Given the description of an element on the screen output the (x, y) to click on. 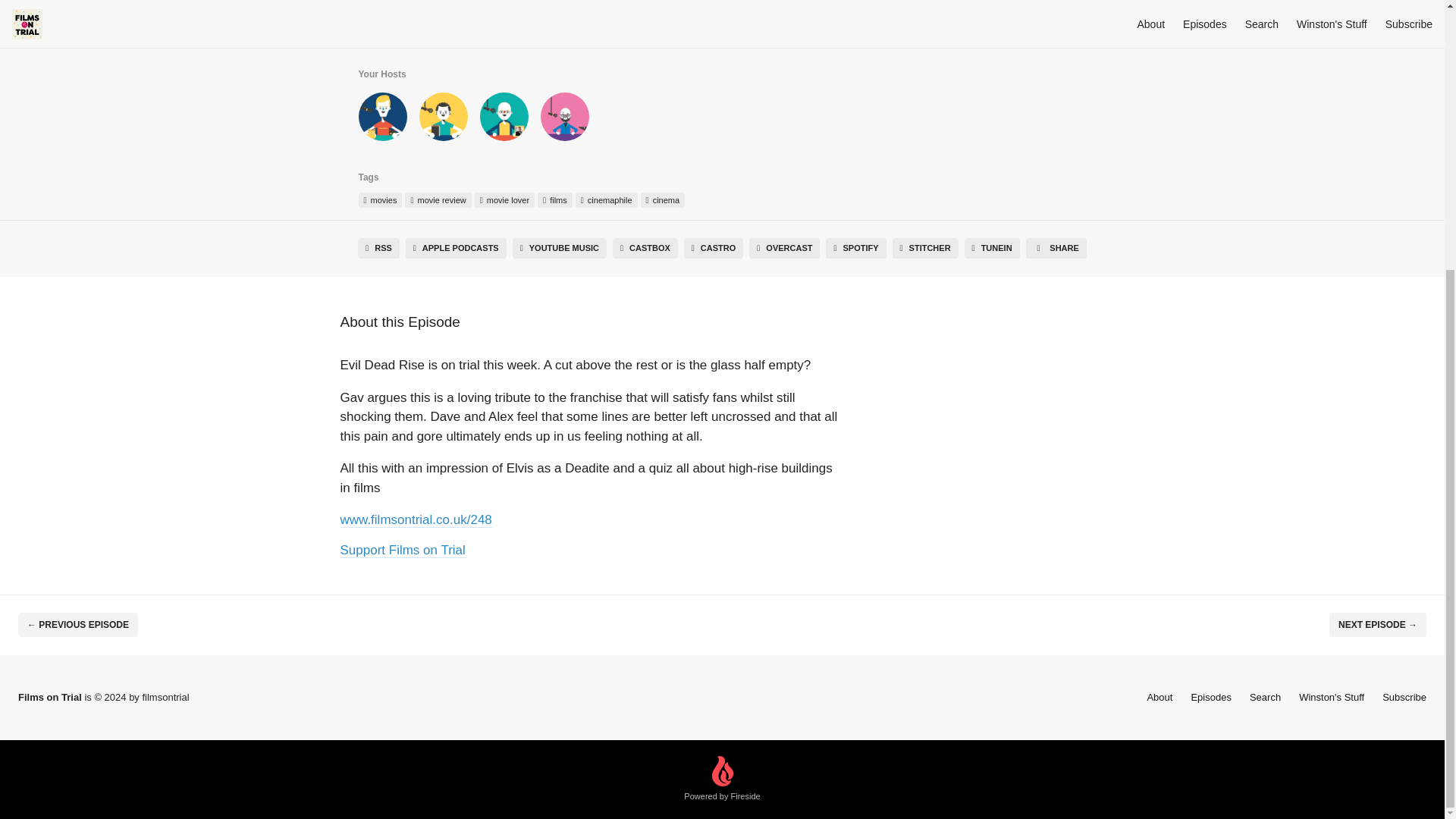
cinemaphile (606, 200)
movie lover (504, 200)
YOUTUBE MUSIC (559, 248)
Powered by Fireside (722, 779)
RSS (378, 248)
OVERCAST (784, 248)
CASTRO (713, 248)
CASTBOX (645, 248)
films (554, 200)
cinema (662, 200)
